Given the description of an element on the screen output the (x, y) to click on. 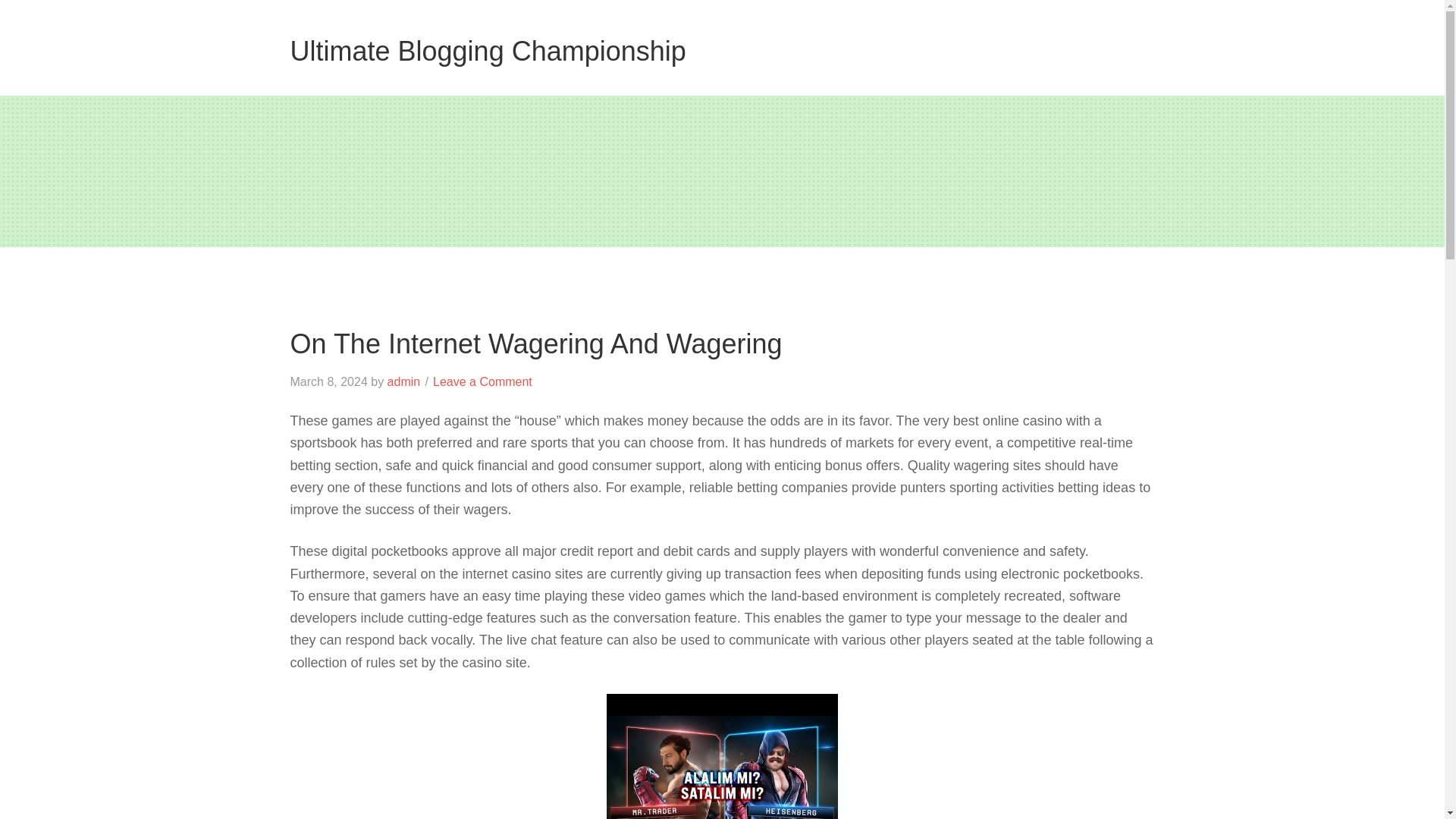
admin (403, 381)
Ultimate Blogging Championship (487, 51)
Leave a Comment (482, 381)
